Given the description of an element on the screen output the (x, y) to click on. 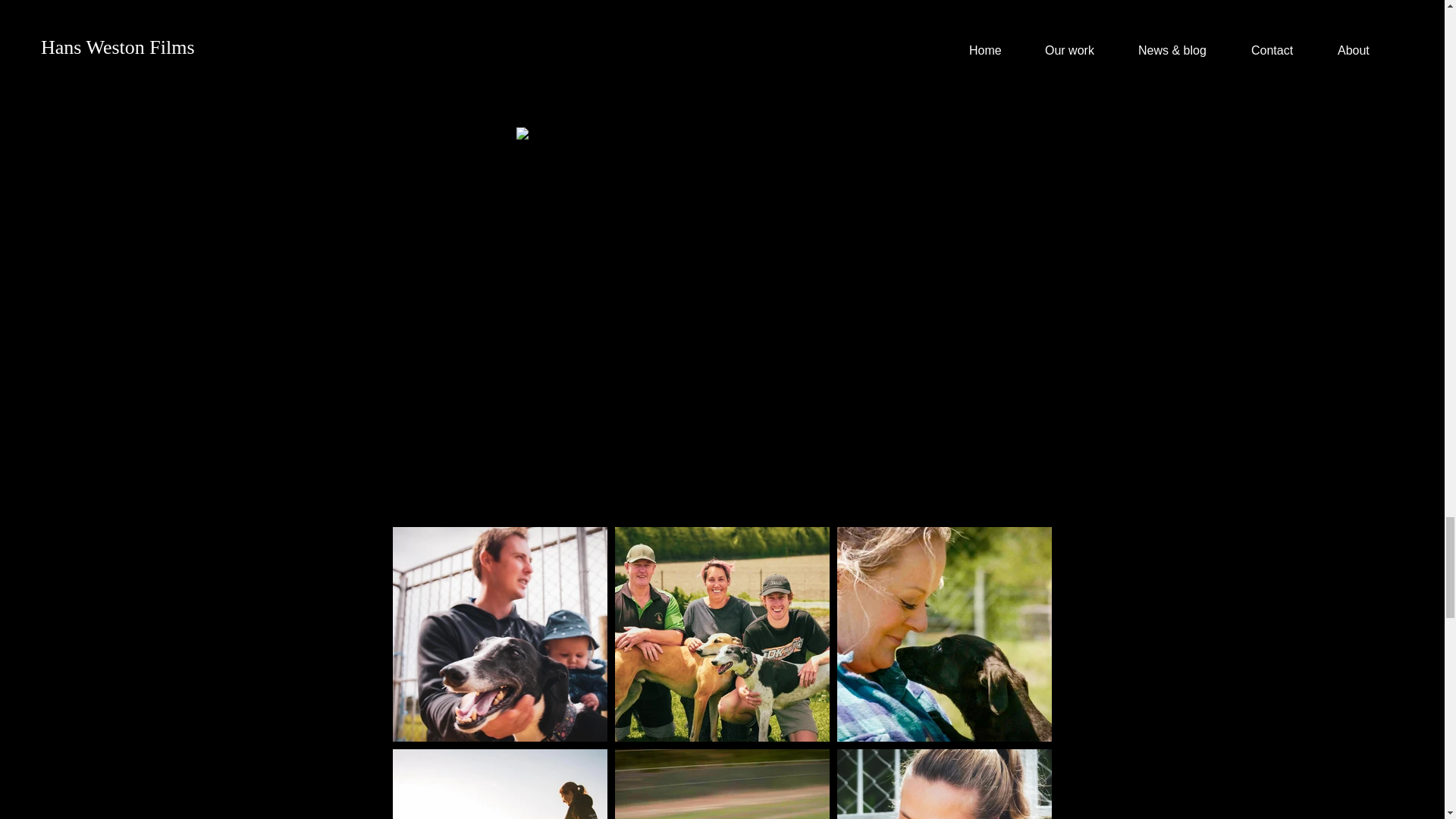
7 sharp.png (743, 47)
